Given the description of an element on the screen output the (x, y) to click on. 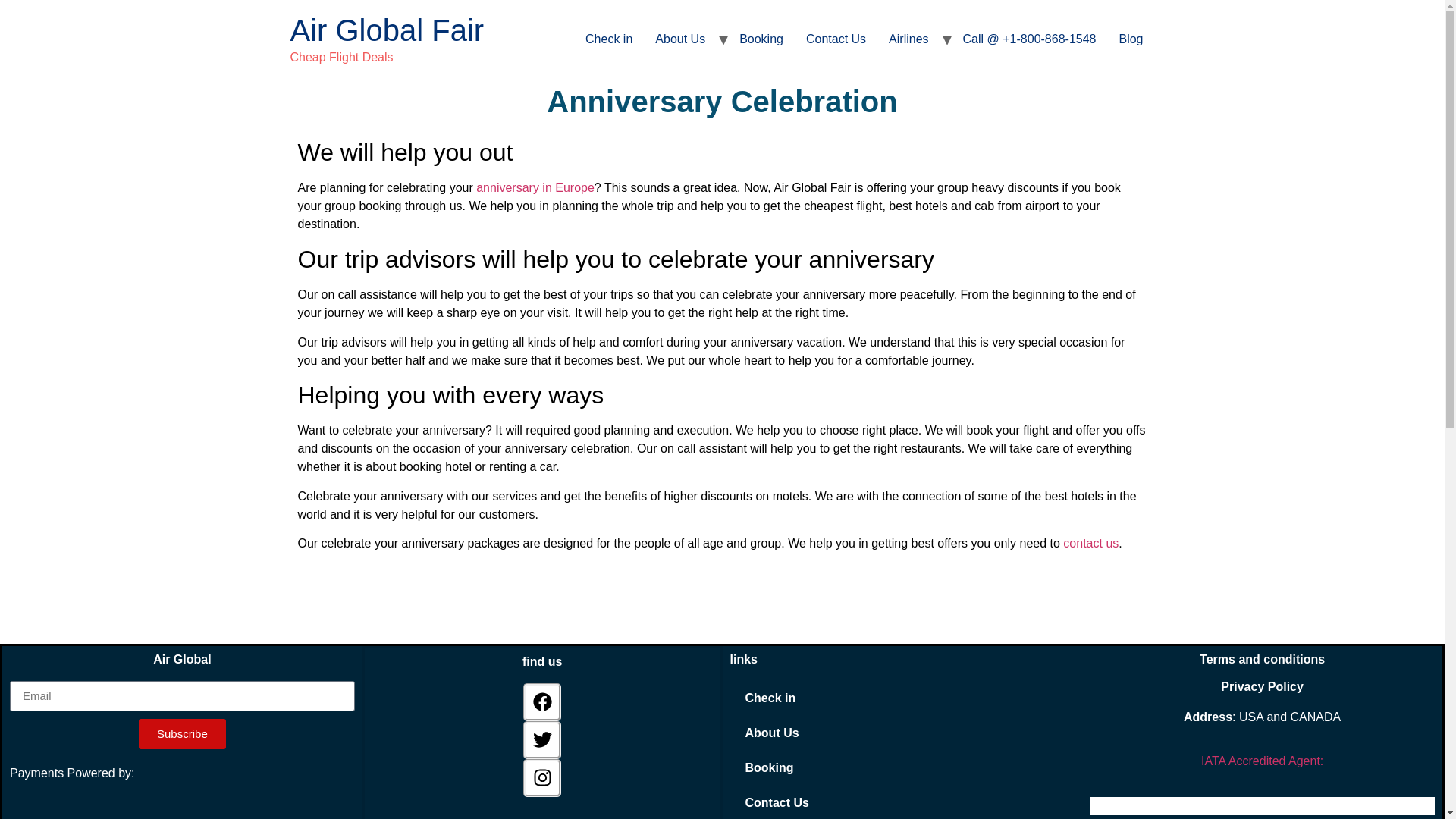
Contact Us (901, 802)
About Us (901, 733)
Check in (608, 39)
Booking (901, 768)
Contact Us (835, 39)
About Us (679, 39)
Home (386, 29)
Booking (761, 39)
Check in (901, 697)
Airlines (908, 39)
anniversary in Europe (535, 187)
Blog (1130, 39)
Subscribe (181, 734)
Air Global Fair (386, 29)
contact us (1090, 543)
